Given the description of an element on the screen output the (x, y) to click on. 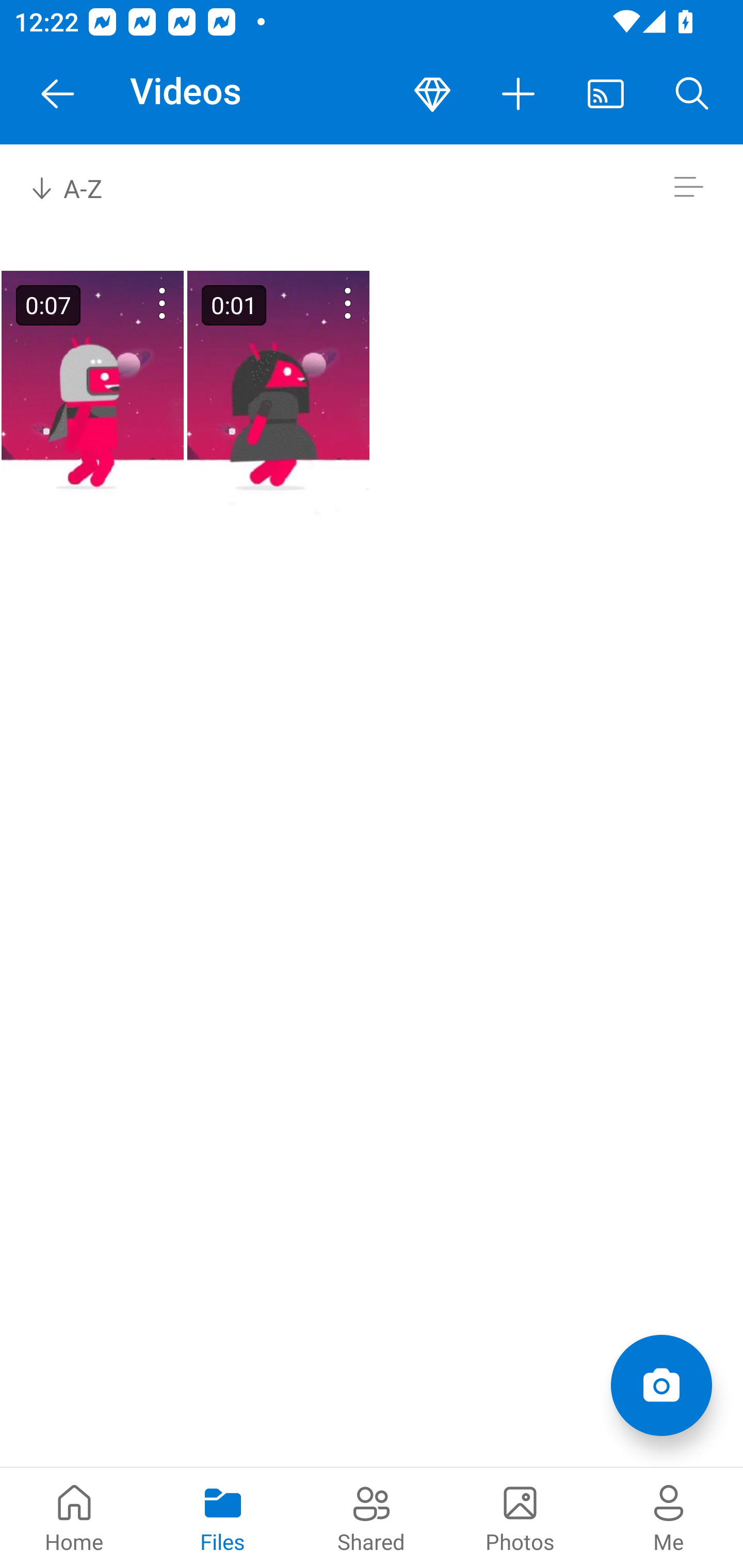
Navigate Up (57, 93)
Cast. Disconnected (605, 93)
Premium button (432, 93)
More actions button (518, 93)
Search button (692, 93)
A-Z Sort by combo box, sort by name, A to Z (80, 187)
Switch to list view (688, 187)
TestVideo commands (136, 303)
VID_20240428_121708 commands (322, 303)
Add items Scan (660, 1385)
Home pivot Home (74, 1517)
Shared pivot Shared (371, 1517)
Photos pivot Photos (519, 1517)
Me pivot Me (668, 1517)
